Given the description of an element on the screen output the (x, y) to click on. 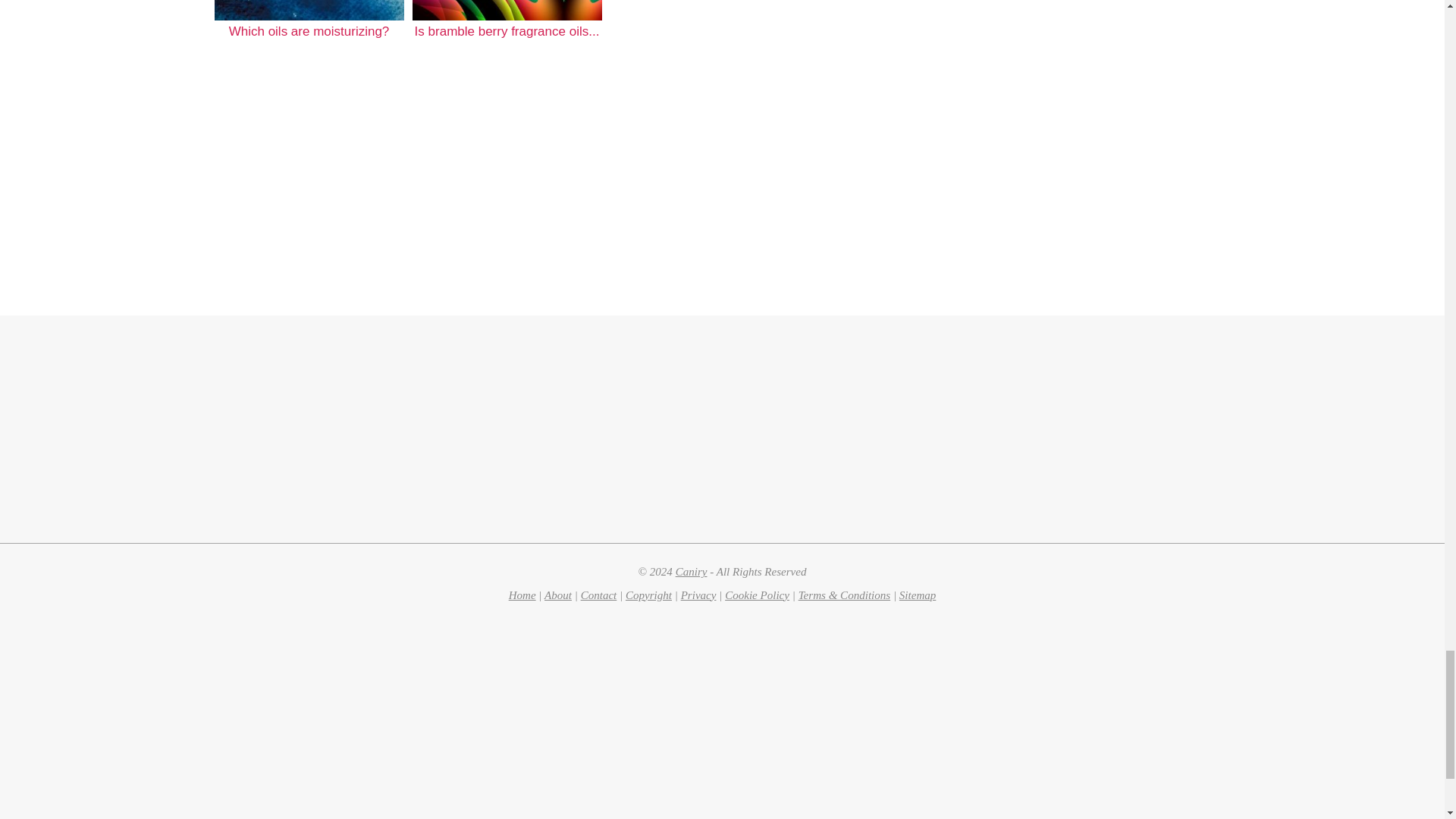
Is bramble berry fragrance oils natural? (507, 10)
Which oils are moisturizing? (308, 10)
